Given the description of an element on the screen output the (x, y) to click on. 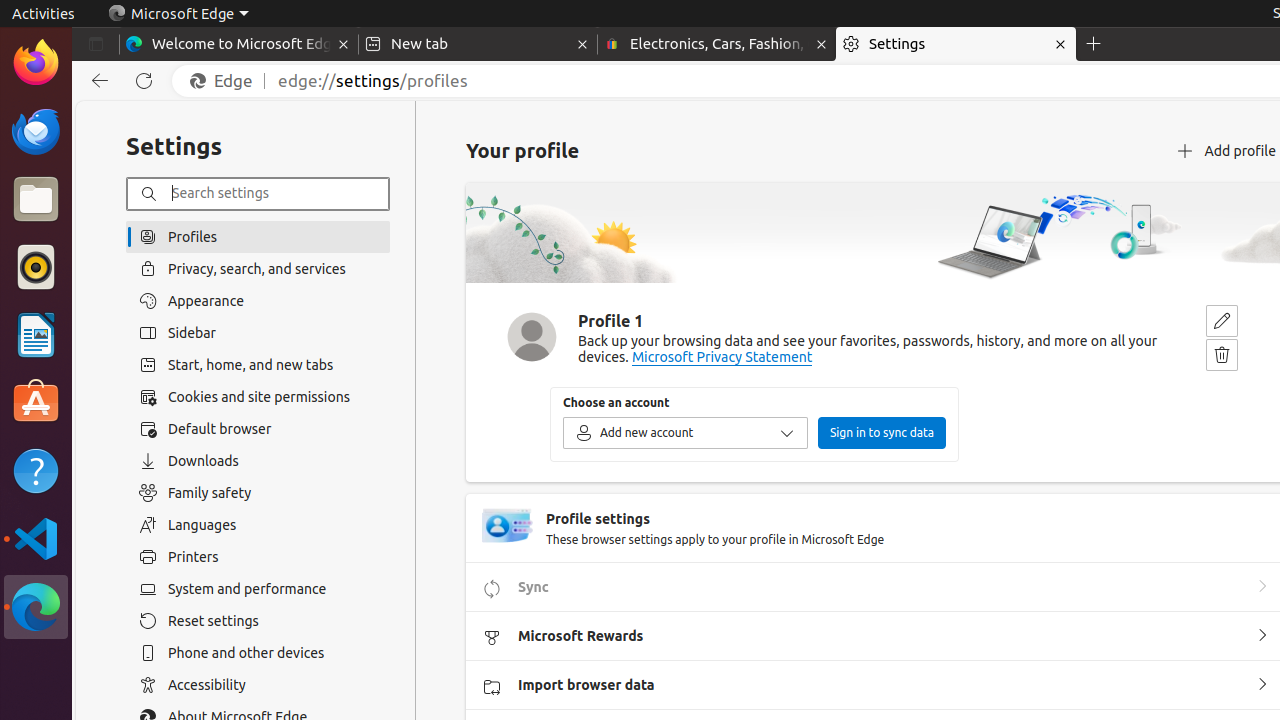
Add new account Element type: combo-box (685, 433)
Sync Element type: push-button (1262, 587)
Rhythmbox Element type: push-button (36, 267)
LibreOffice Writer Element type: push-button (36, 334)
Import browser data Element type: push-button (1262, 685)
